Given the description of an element on the screen output the (x, y) to click on. 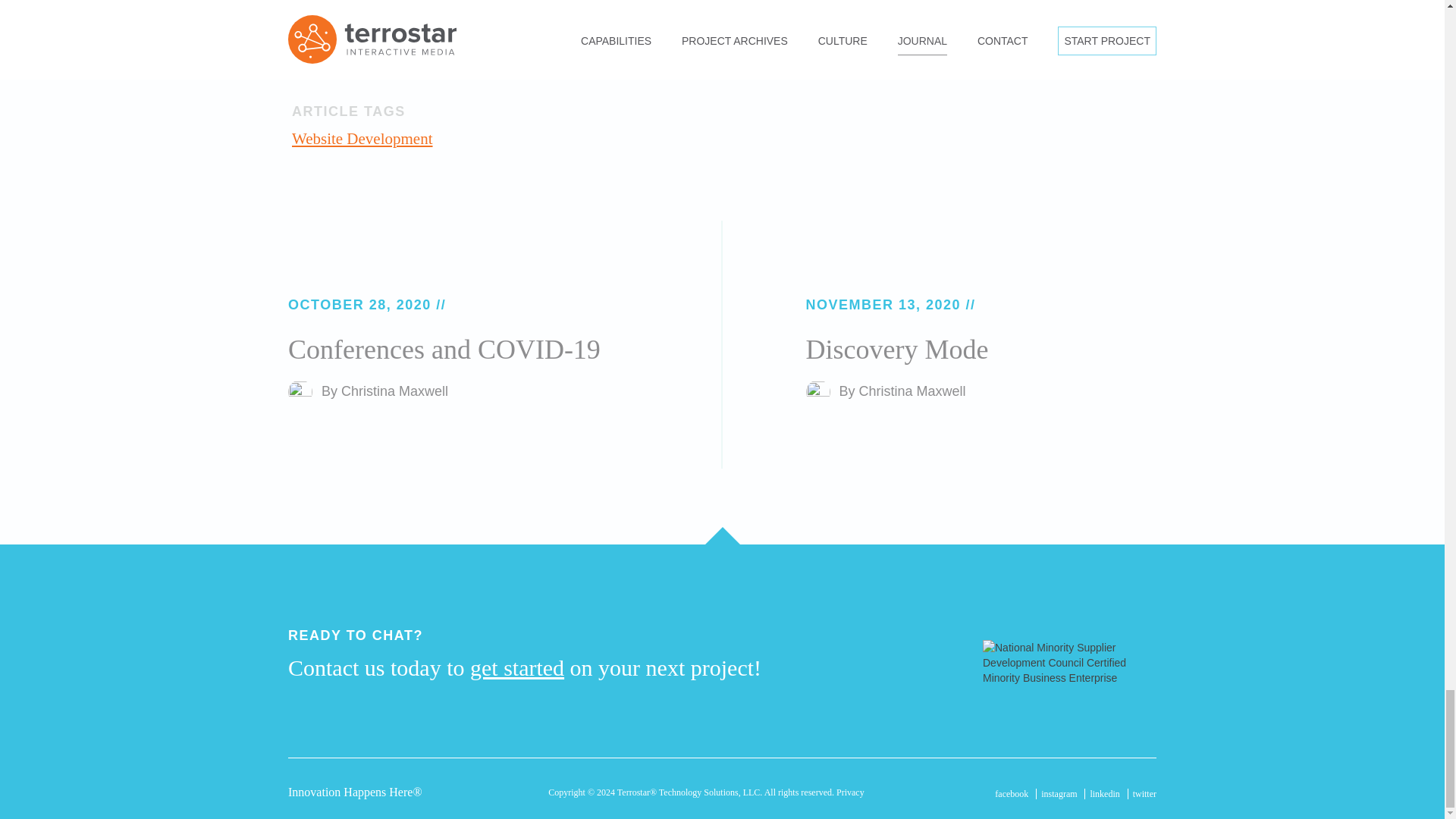
linkedin (1104, 793)
Discovery Mode (896, 349)
instagram (1059, 793)
By Christina Maxwell (885, 391)
Conferences and COVID-19 (443, 349)
twitter (1144, 793)
get started (517, 667)
Website Development (362, 138)
Privacy (849, 792)
